Given the description of an element on the screen output the (x, y) to click on. 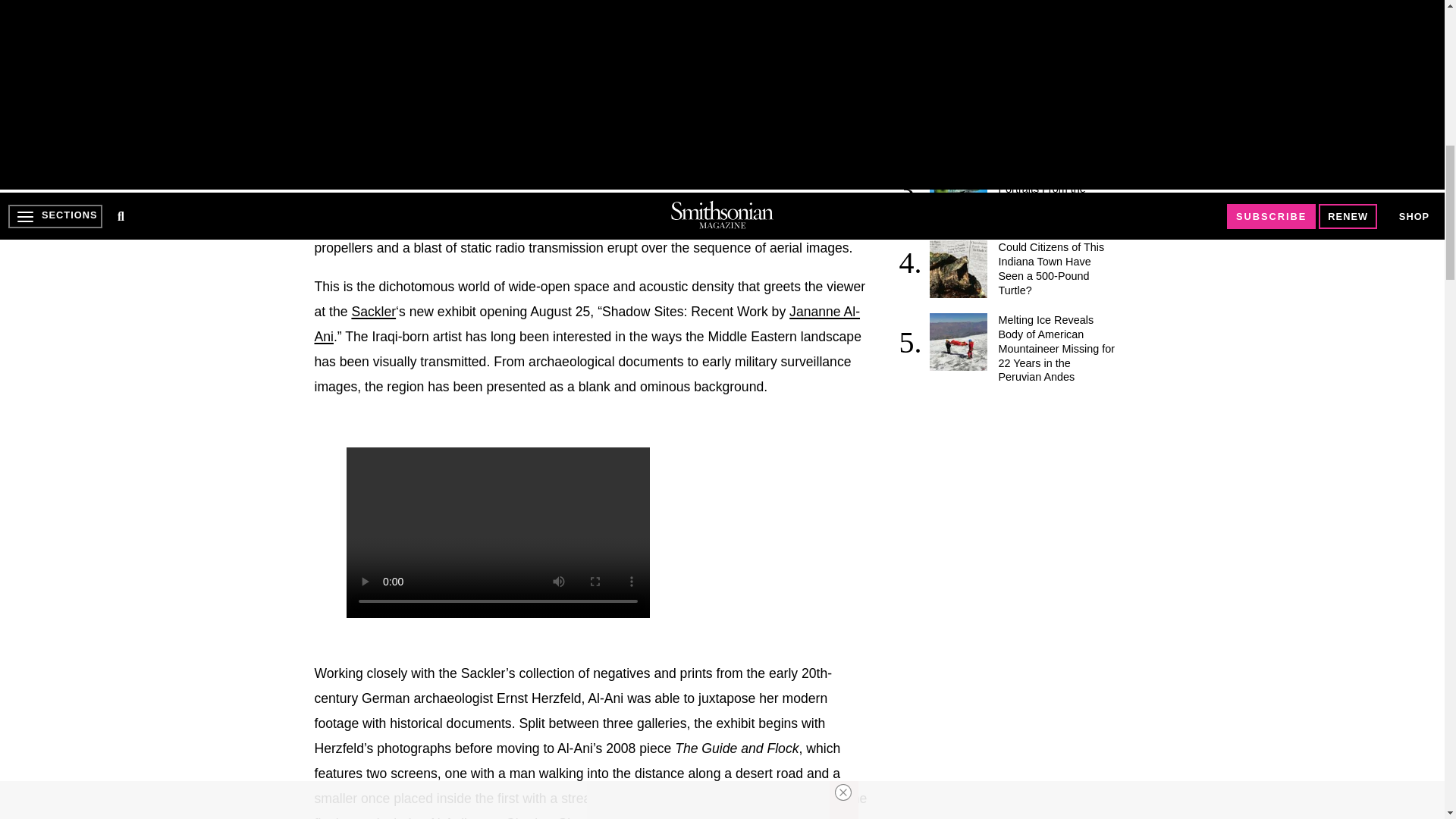
Reddit (418, 102)
Artist Page (587, 323)
Print (511, 102)
WhatsApp (450, 102)
Email (542, 102)
Exhibits (373, 311)
LinkedIn (387, 102)
Pocket (480, 102)
Twitter (357, 102)
Facebook (325, 102)
